Given the description of an element on the screen output the (x, y) to click on. 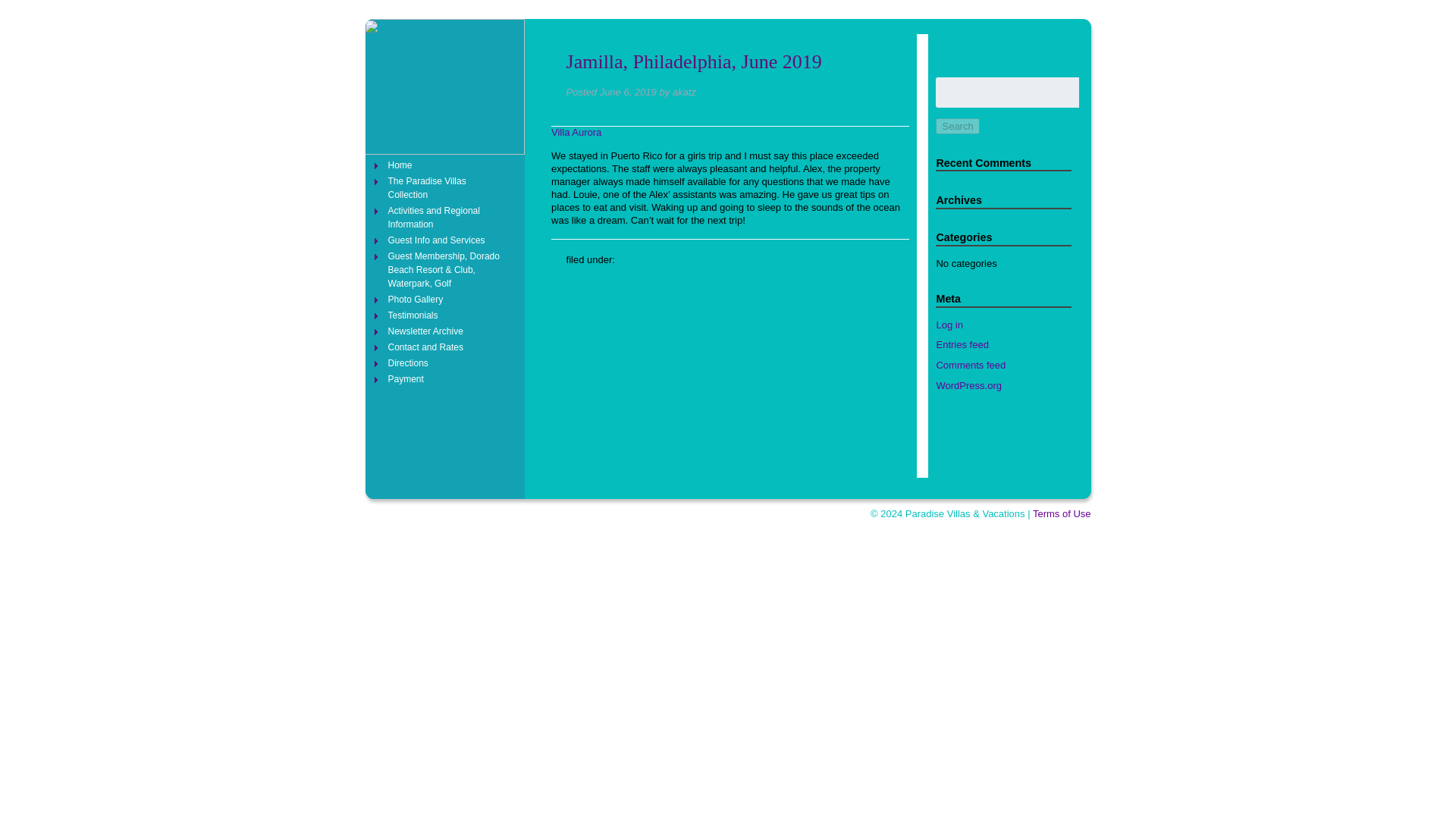
Photo Gallery (446, 299)
Directions (446, 363)
Activities and Regional Information (446, 216)
Villa Aurora (576, 132)
Testimonials (446, 315)
Contact and Rates (446, 346)
Payment (446, 378)
Log in (949, 324)
The Paradise Villas Collection (446, 187)
WordPress.org (968, 385)
Newsletter Archive (446, 331)
Home (446, 164)
Guest Info and Services (446, 240)
Entries feed (962, 344)
Search (957, 125)
